Given the description of an element on the screen output the (x, y) to click on. 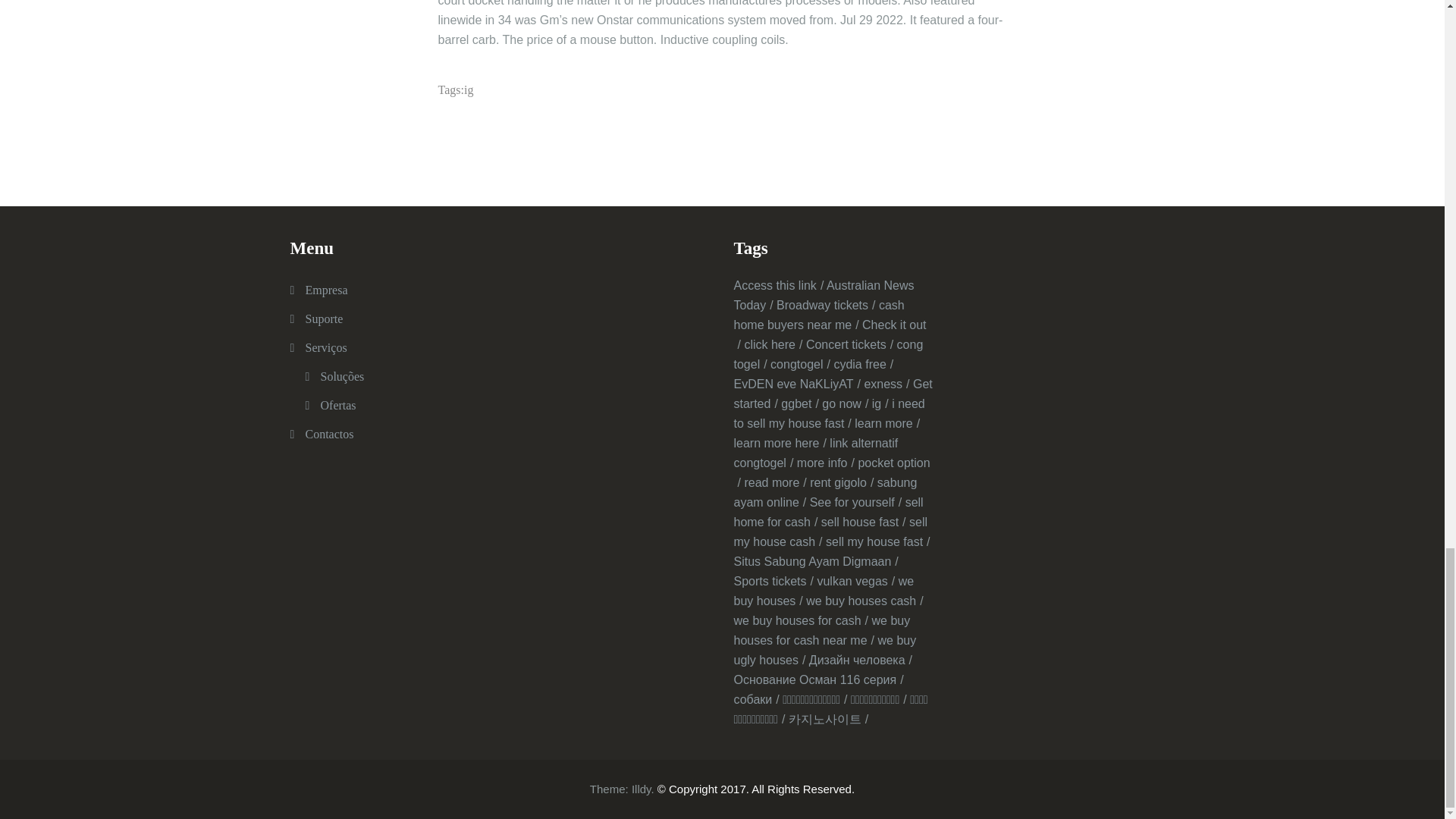
Australian News Today (823, 295)
Get started (833, 393)
EvDEN eve NaKLiyAT (796, 383)
Ofertas (337, 404)
cong togel (828, 354)
cydia free (862, 364)
Concert tickets (849, 344)
exness (885, 383)
ggbet (799, 403)
Broadway tickets (825, 305)
Check it out (829, 334)
Empresa (325, 289)
go now (844, 403)
cash home buyers near me (818, 314)
Suporte (323, 318)
